Given the description of an element on the screen output the (x, y) to click on. 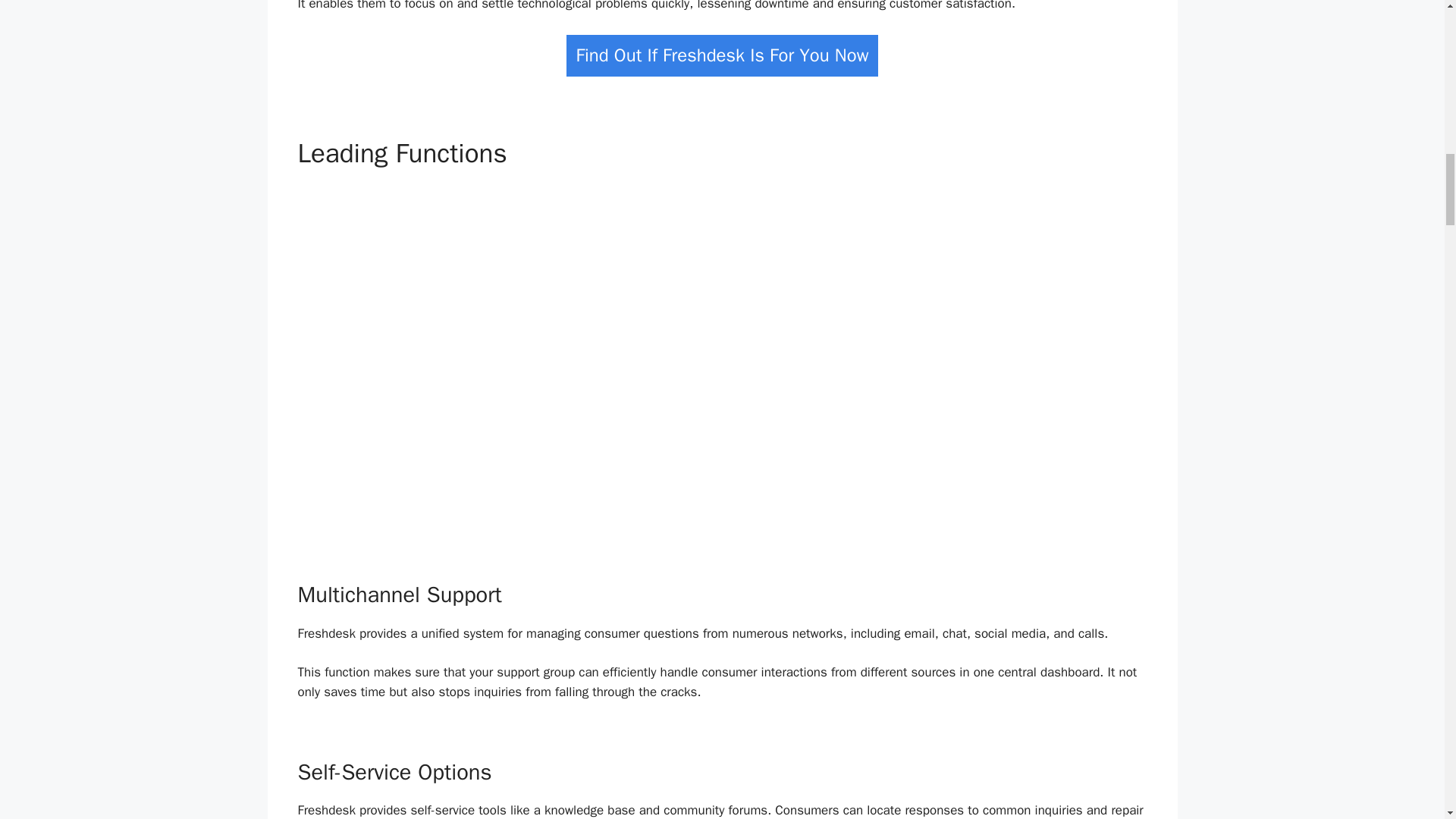
Find Out If Freshdesk Is For You Now (722, 55)
